Given the description of an element on the screen output the (x, y) to click on. 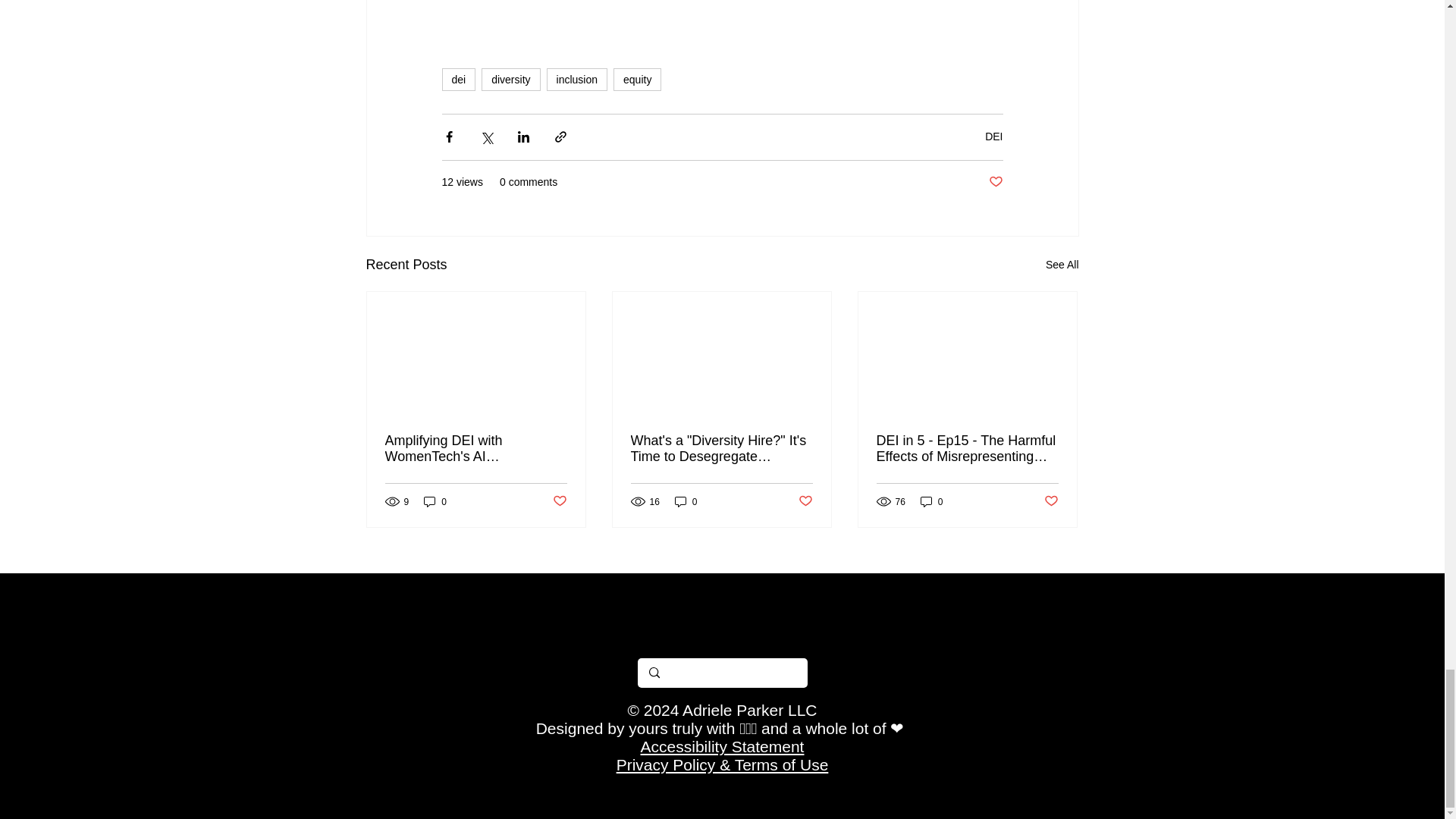
Post not marked as liked (1050, 501)
0 (435, 501)
Amplifying DEI with WomenTech's AI Collaborative Articles (476, 449)
dei (458, 78)
0 (685, 501)
inclusion (577, 78)
equity (636, 78)
diversity (510, 78)
See All (1061, 264)
Post not marked as liked (804, 501)
Post not marked as liked (995, 182)
0 (931, 501)
DEI (994, 136)
